Given the description of an element on the screen output the (x, y) to click on. 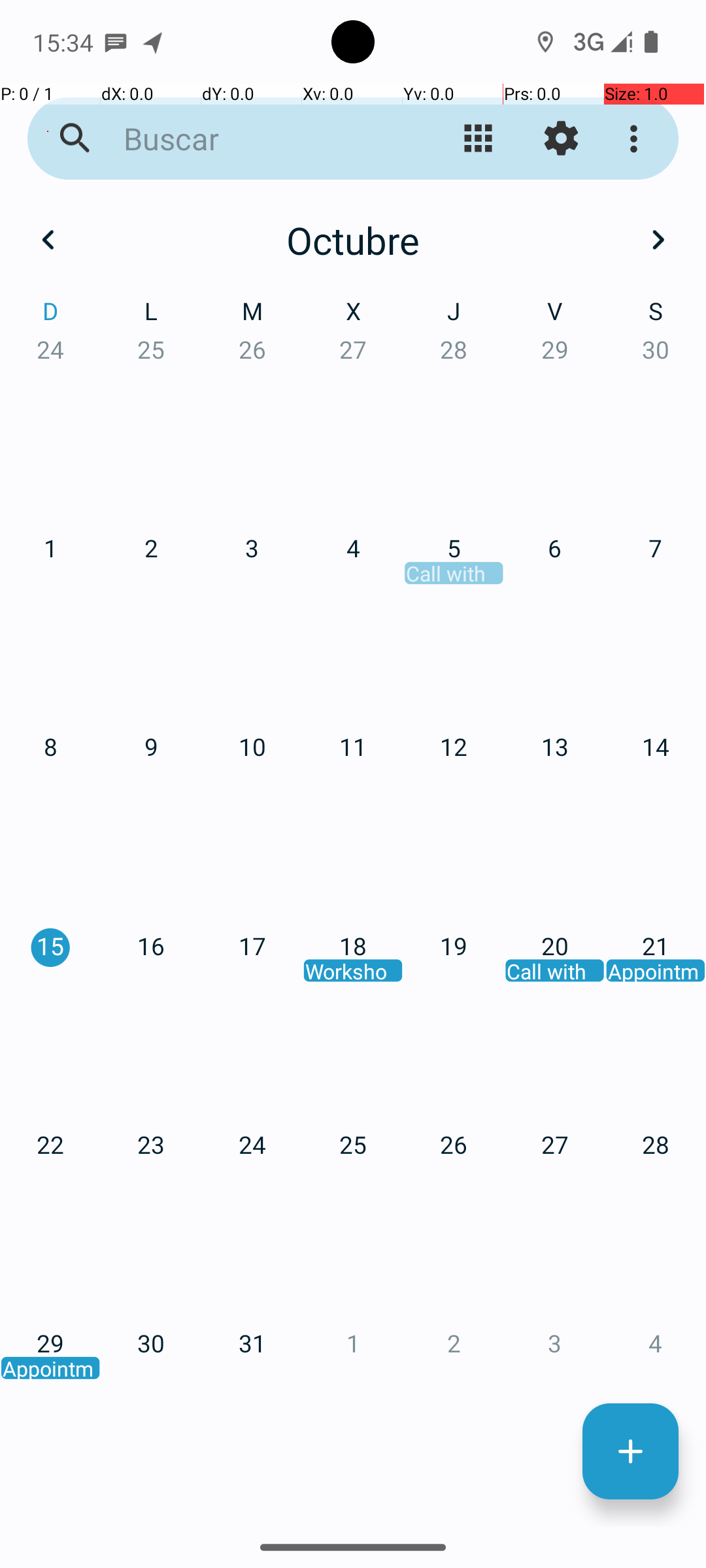
Octubre Element type: android.widget.TextView (352, 239)
